Given the description of an element on the screen output the (x, y) to click on. 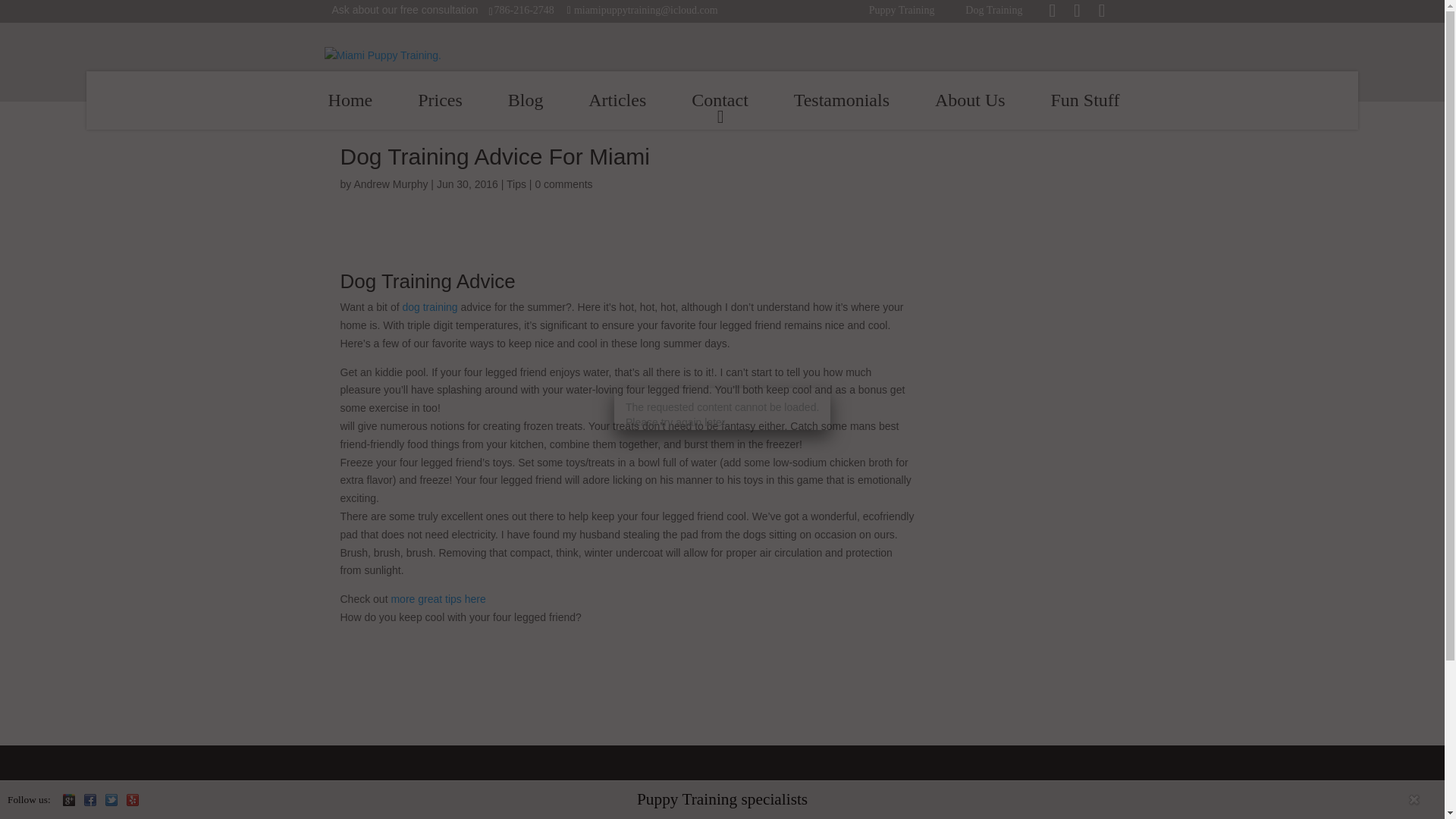
Testamonials (841, 100)
dog training (429, 306)
Puppy Training (370, 816)
Contact (719, 100)
Prices (439, 100)
Dog Training (993, 9)
Puppy Training (901, 9)
About Us (969, 100)
Blog (525, 100)
Tips (515, 184)
Fun Stuff (1084, 100)
more great tips here (437, 598)
786-216-2748 (525, 9)
0 comments (563, 184)
Dog Training (395, 281)
